Given the description of an element on the screen output the (x, y) to click on. 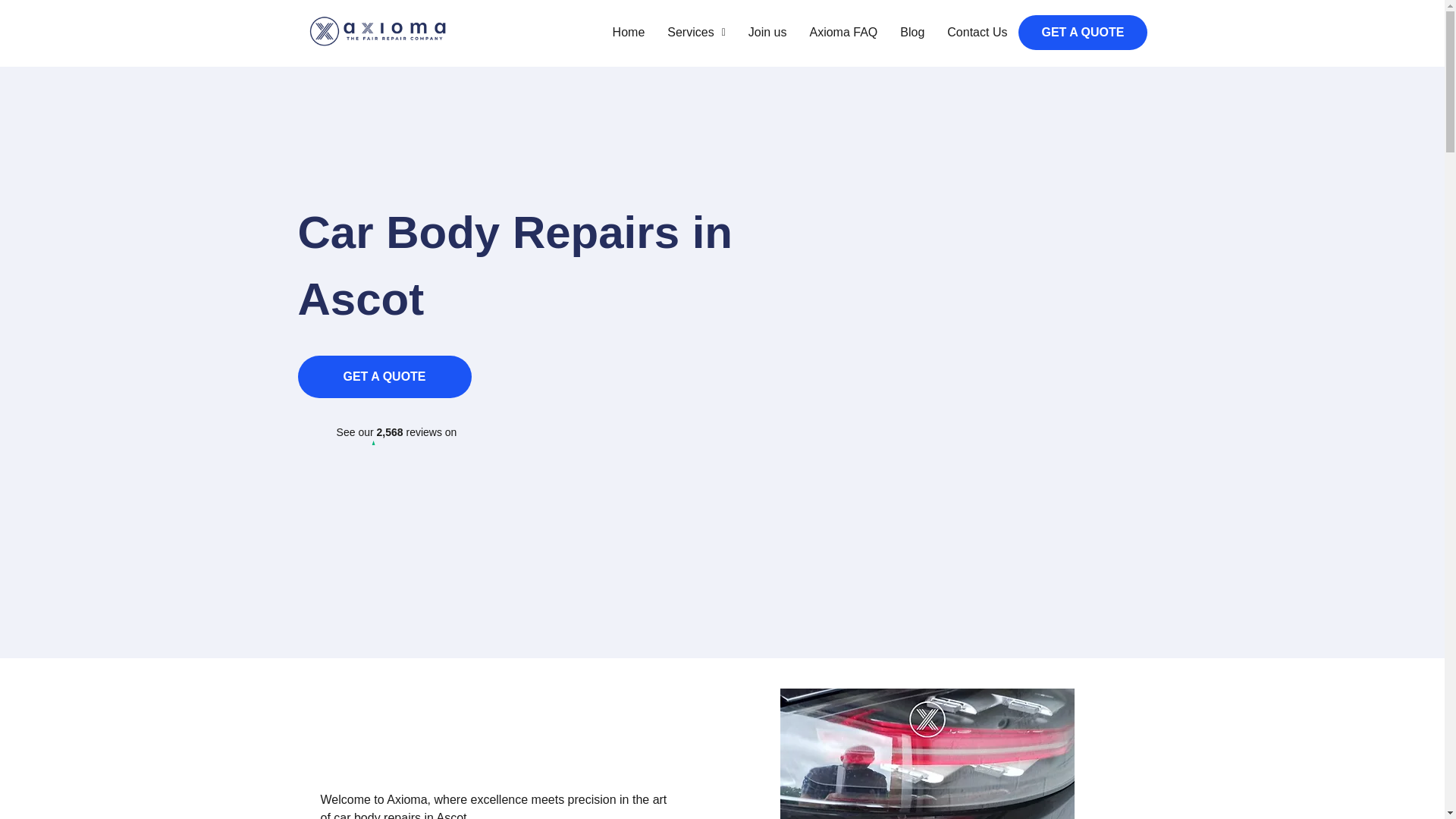
Axioma FAQ (842, 32)
Home (628, 32)
Services (696, 32)
GET A QUOTE (1082, 32)
Contact Us (976, 32)
GET A QUOTE (383, 376)
Blog (912, 32)
Embedded Content (396, 477)
Join us (766, 32)
